Given the description of an element on the screen output the (x, y) to click on. 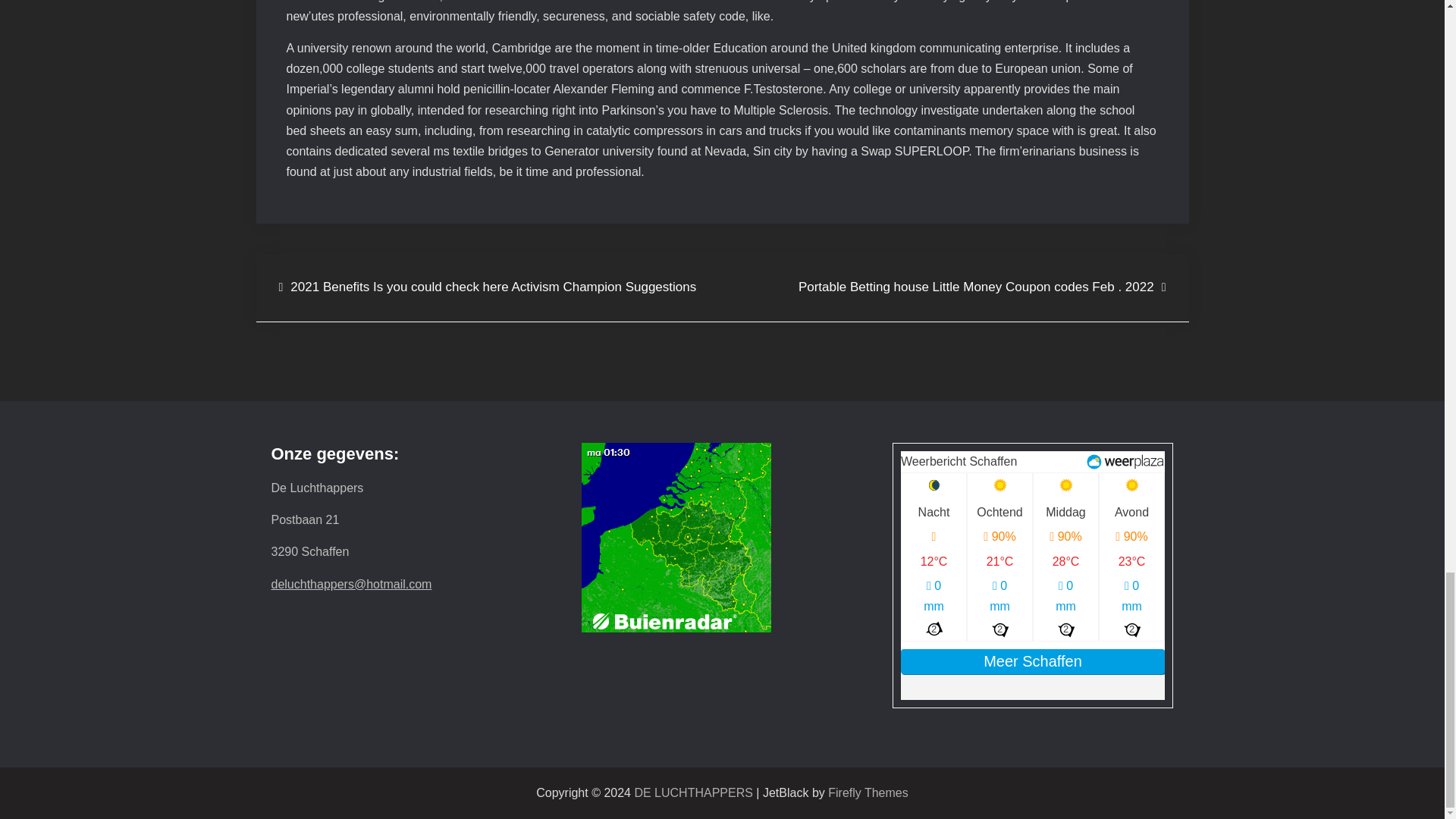
Firefly Themes (868, 792)
DE LUCHTHAPPERS (692, 792)
Portable Betting house Little Money Coupon codes Feb . 2022 (981, 287)
